Given the description of an element on the screen output the (x, y) to click on. 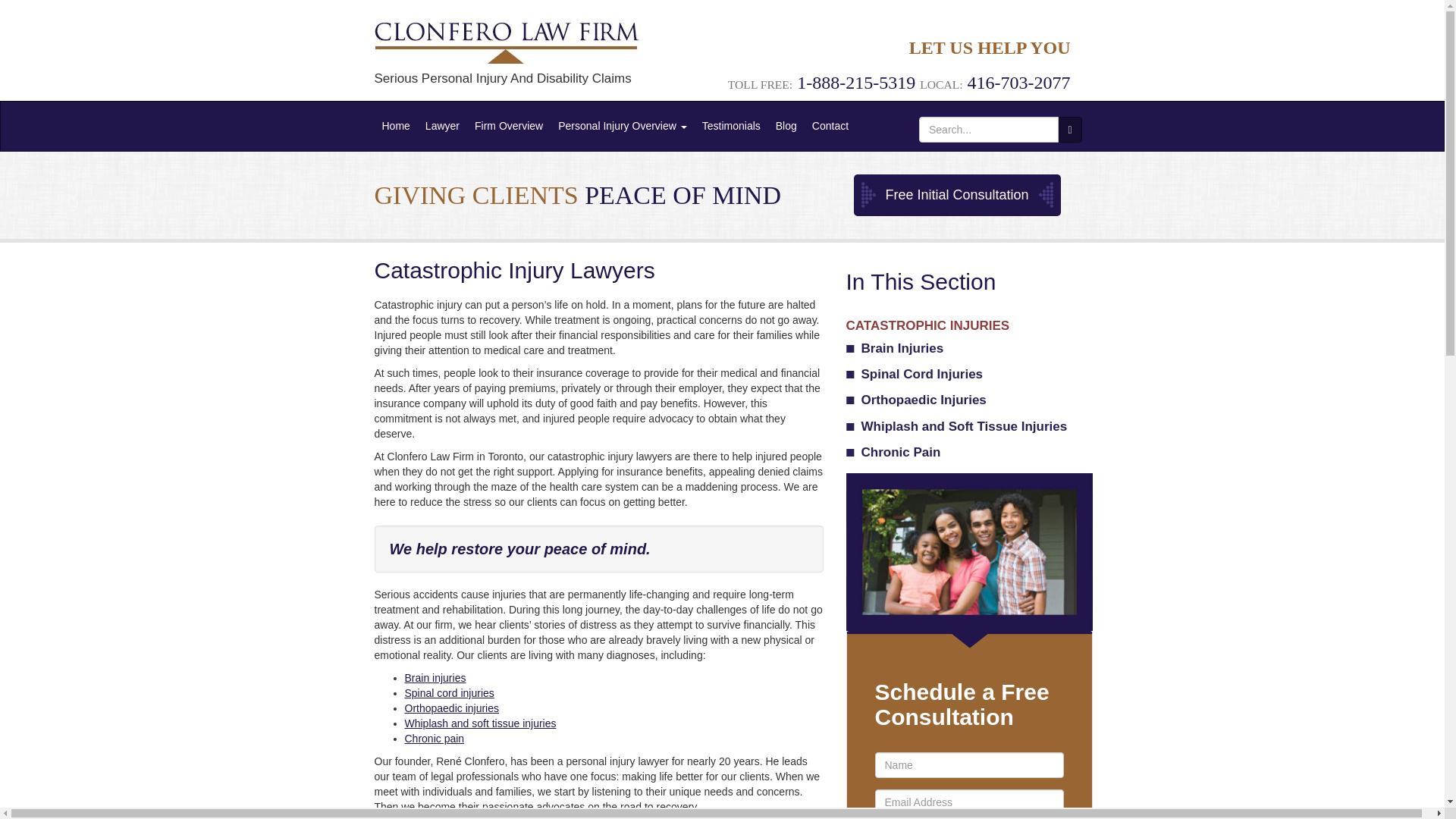
Whiplash and Soft Tissue Injuries (969, 426)
Contact (830, 125)
Lawyer (442, 125)
Whiplash and soft tissue injuries (480, 723)
Chronic Pain (969, 452)
Chronic pain (434, 738)
Orthopaedic Injuries (969, 400)
Lawyer (442, 125)
Testimonials (731, 125)
Testimonials (731, 125)
